Given the description of an element on the screen output the (x, y) to click on. 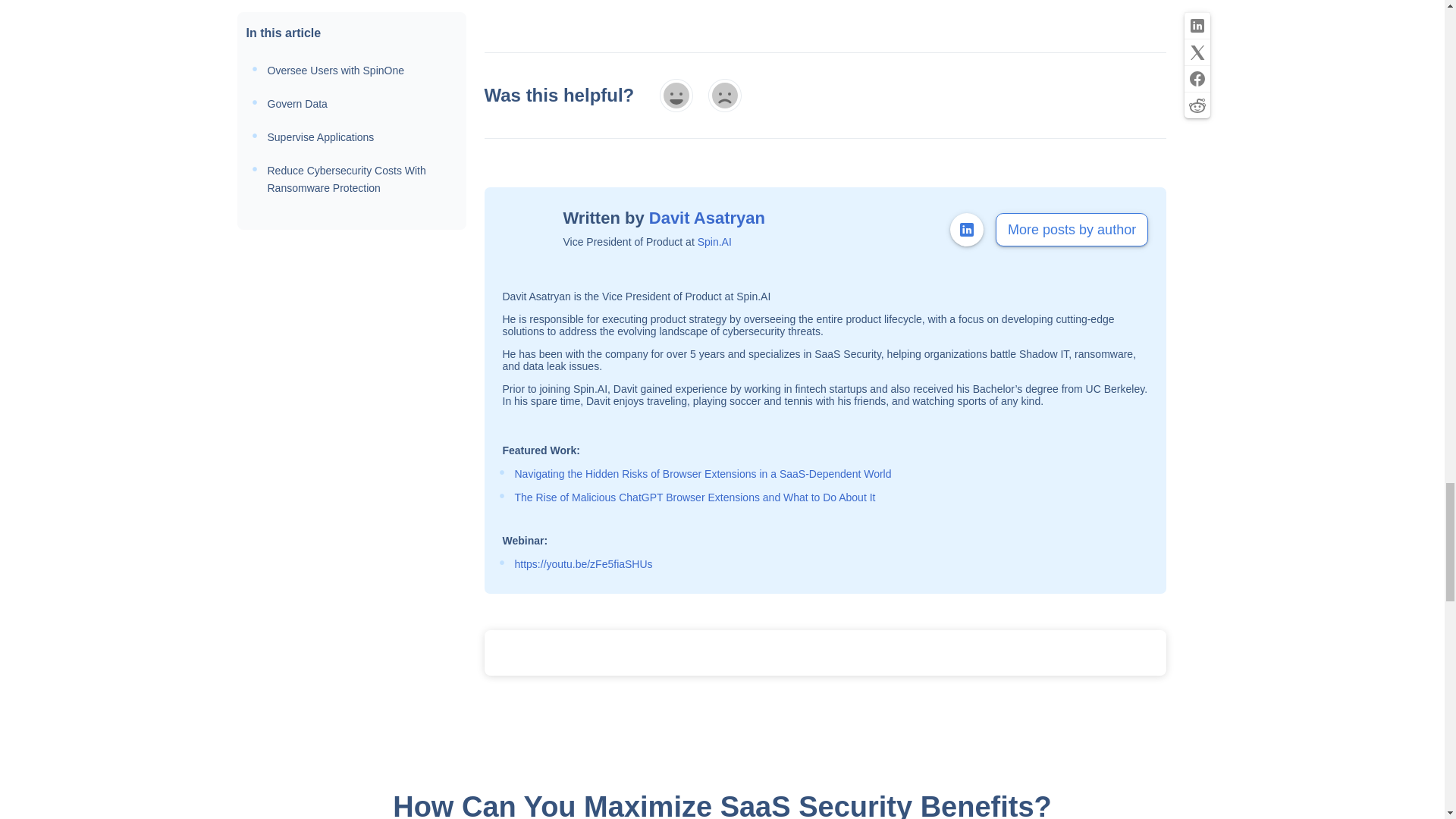
Go to Linkedin Profile (967, 229)
Posts by Davit Asatryan (707, 217)
